Given the description of an element on the screen output the (x, y) to click on. 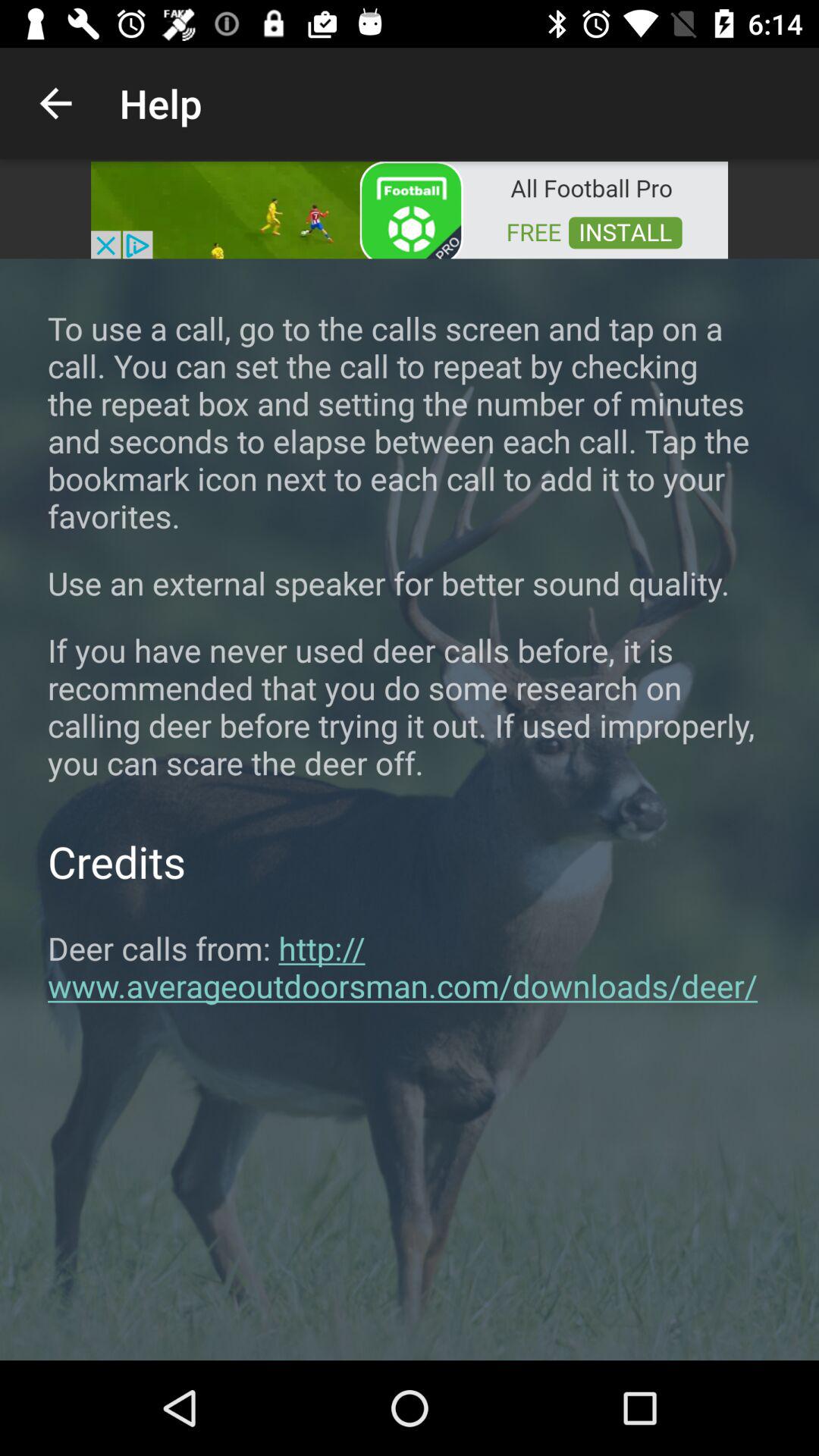
add the option (409, 208)
